Given the description of an element on the screen output the (x, y) to click on. 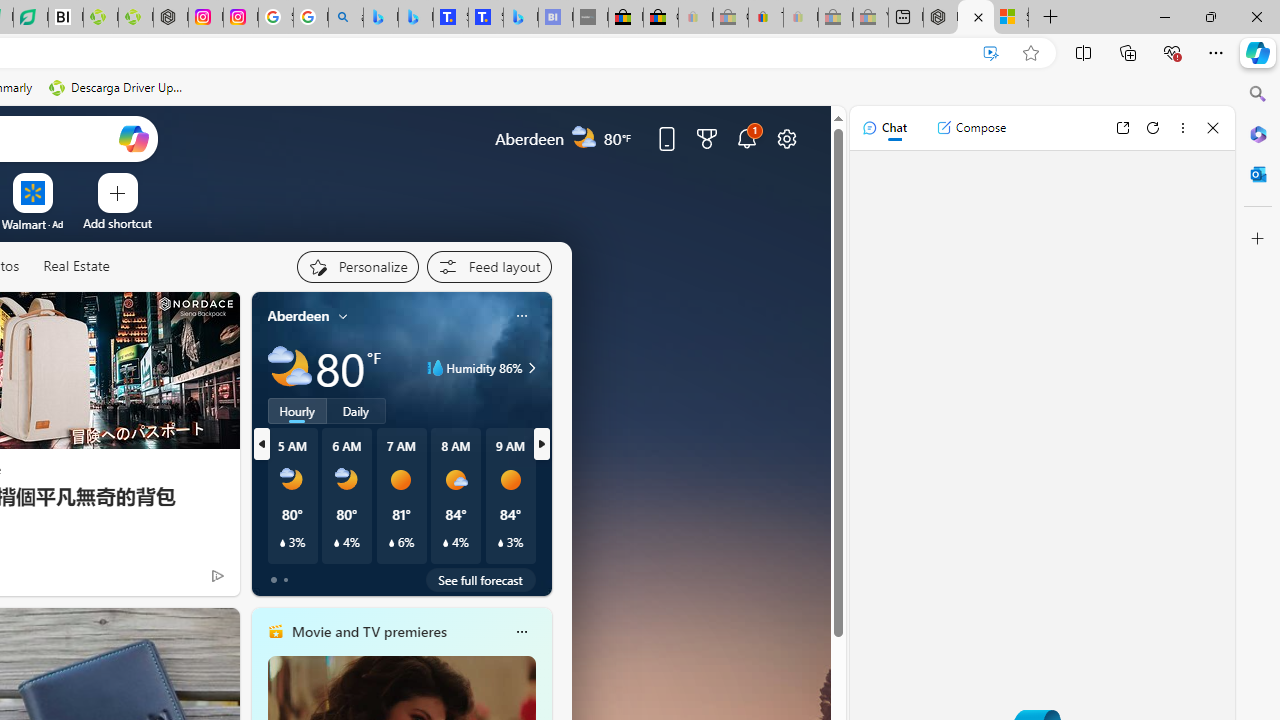
Microsoft Bing Travel - Shangri-La Hotel Bangkok (520, 17)
Feed settings (488, 266)
Safety in Our Products - Google Safety Center (275, 17)
Partly cloudy (289, 368)
Nvidia va a poner a prueba la paciencia de los inversores (65, 17)
